Given the description of an element on the screen output the (x, y) to click on. 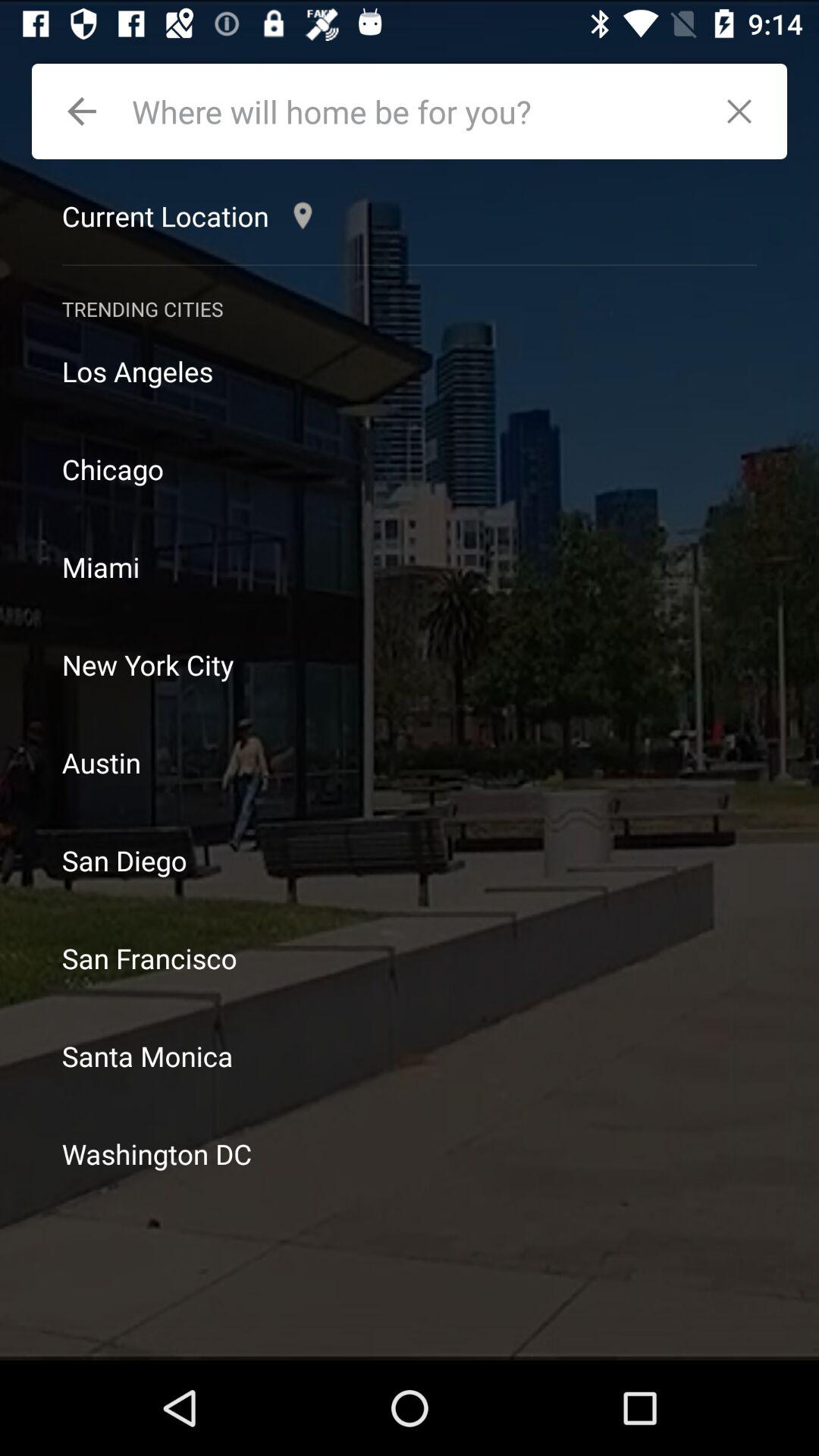
launch the item above new york city item (409, 566)
